Given the description of an element on the screen output the (x, y) to click on. 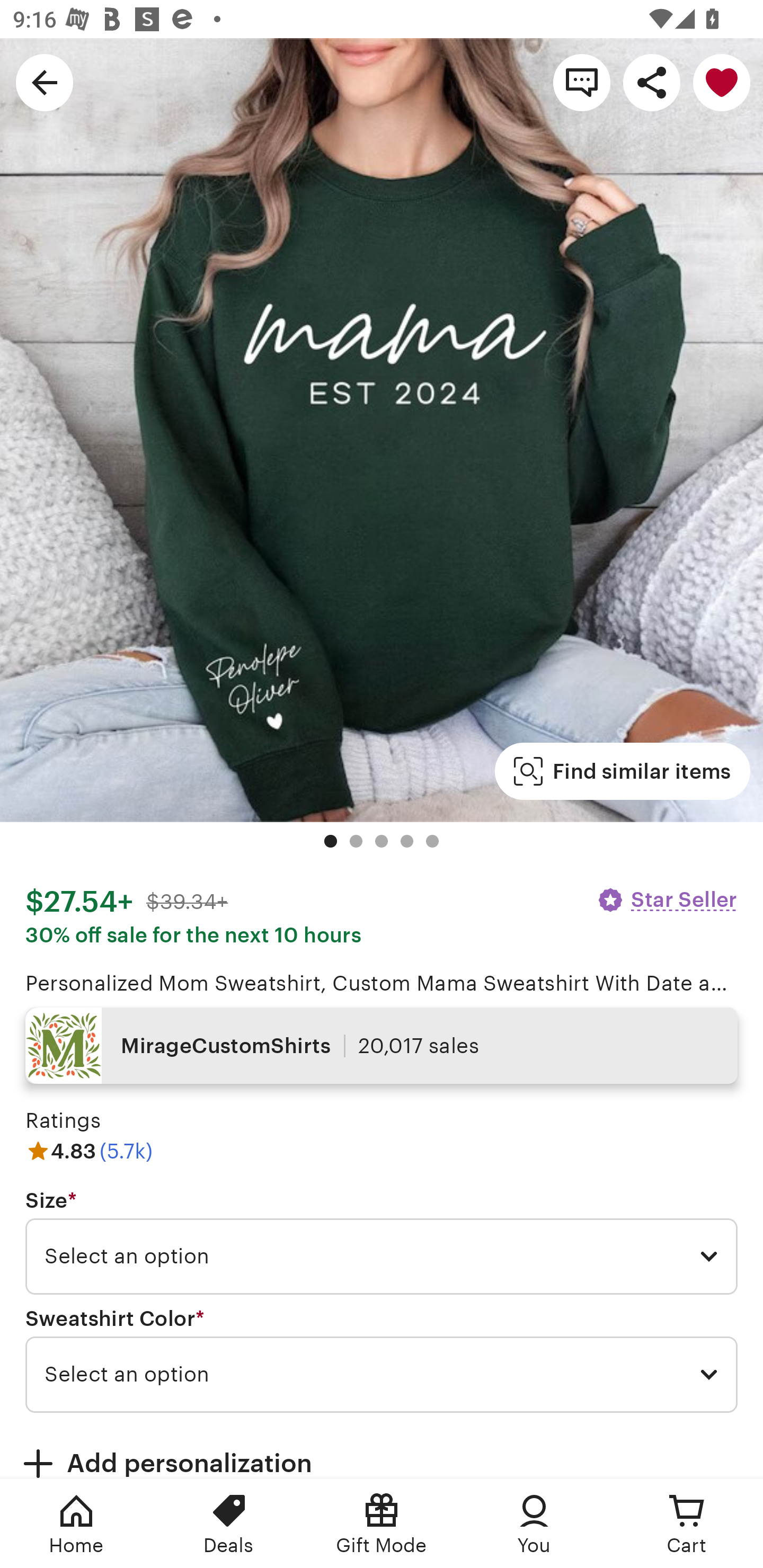
Navigate up (44, 81)
Contact shop (581, 81)
Share (651, 81)
Find similar items (622, 771)
Star Seller (666, 899)
MirageCustomShirts 20,017 sales (381, 1045)
Ratings (62, 1120)
4.83 (5.7k) (89, 1150)
Size * Required Select an option (381, 1241)
Select an option (381, 1256)
Sweatshirt Color * Required Select an option (381, 1359)
Select an option (381, 1373)
Add personalization Add personalization Required (381, 1451)
Home (76, 1523)
Gift Mode (381, 1523)
You (533, 1523)
Cart (686, 1523)
